Given the description of an element on the screen output the (x, y) to click on. 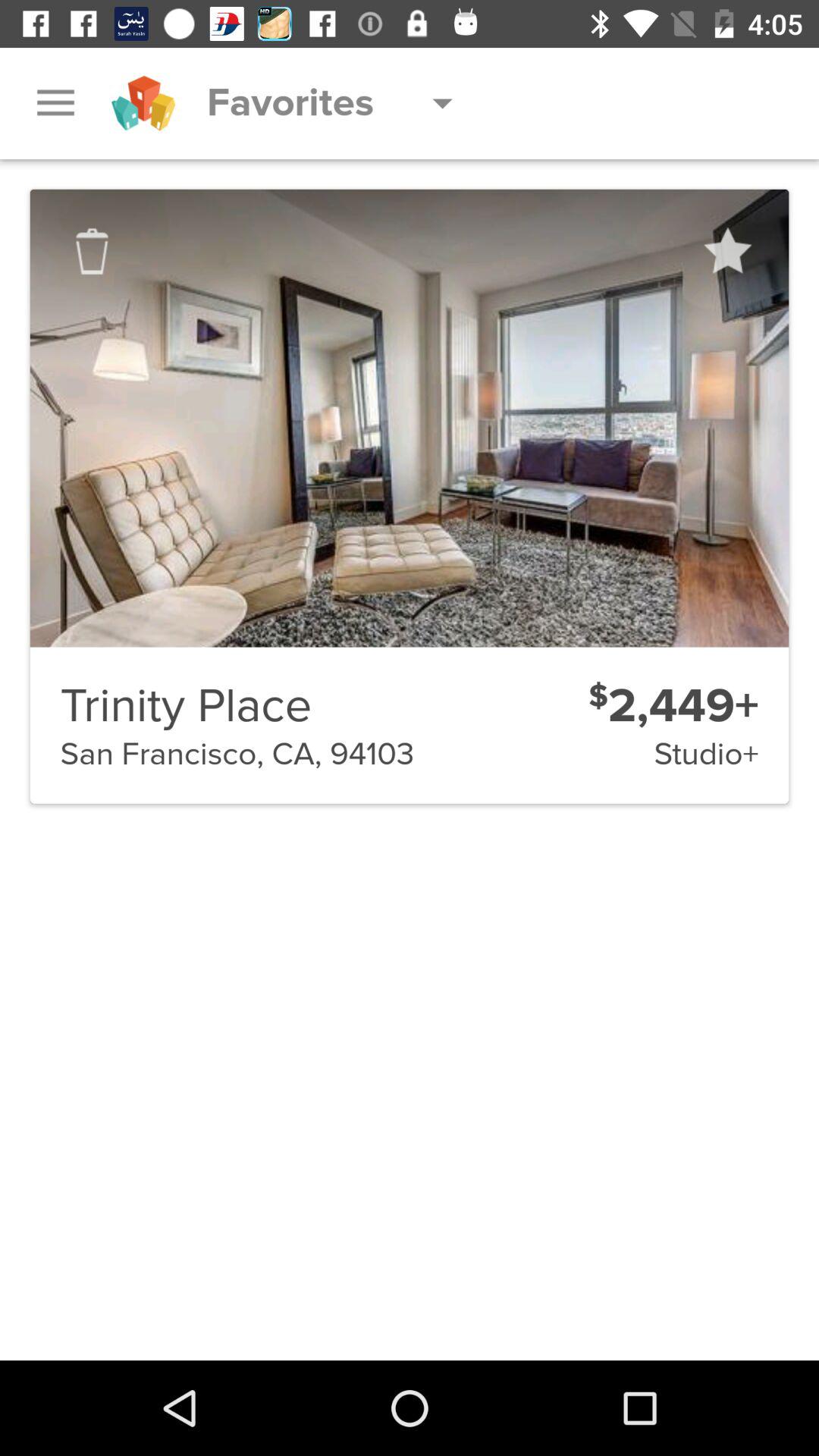
click to the delete (92, 251)
